Given the description of an element on the screen output the (x, y) to click on. 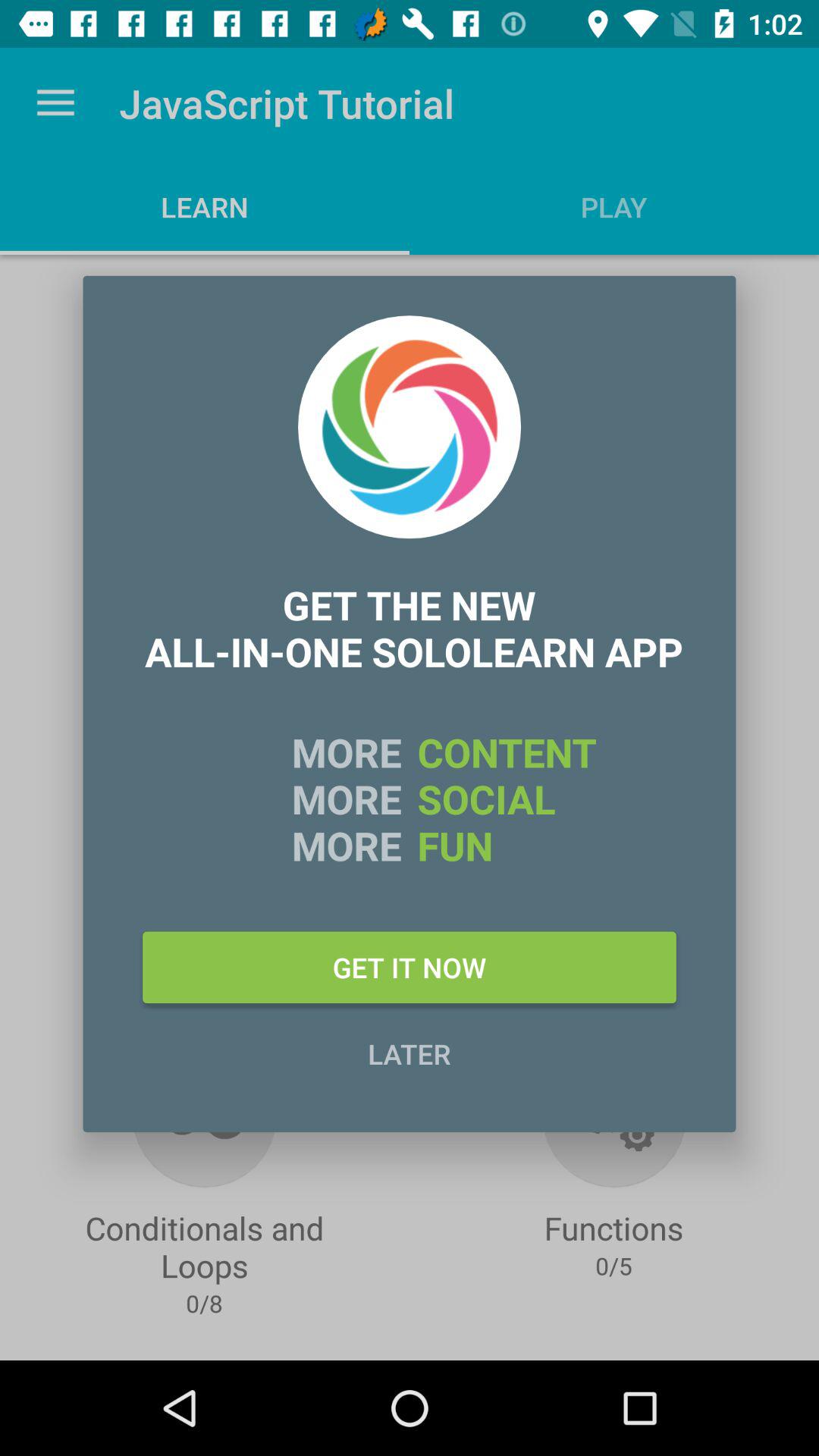
jump until the later (409, 1053)
